Given the description of an element on the screen output the (x, y) to click on. 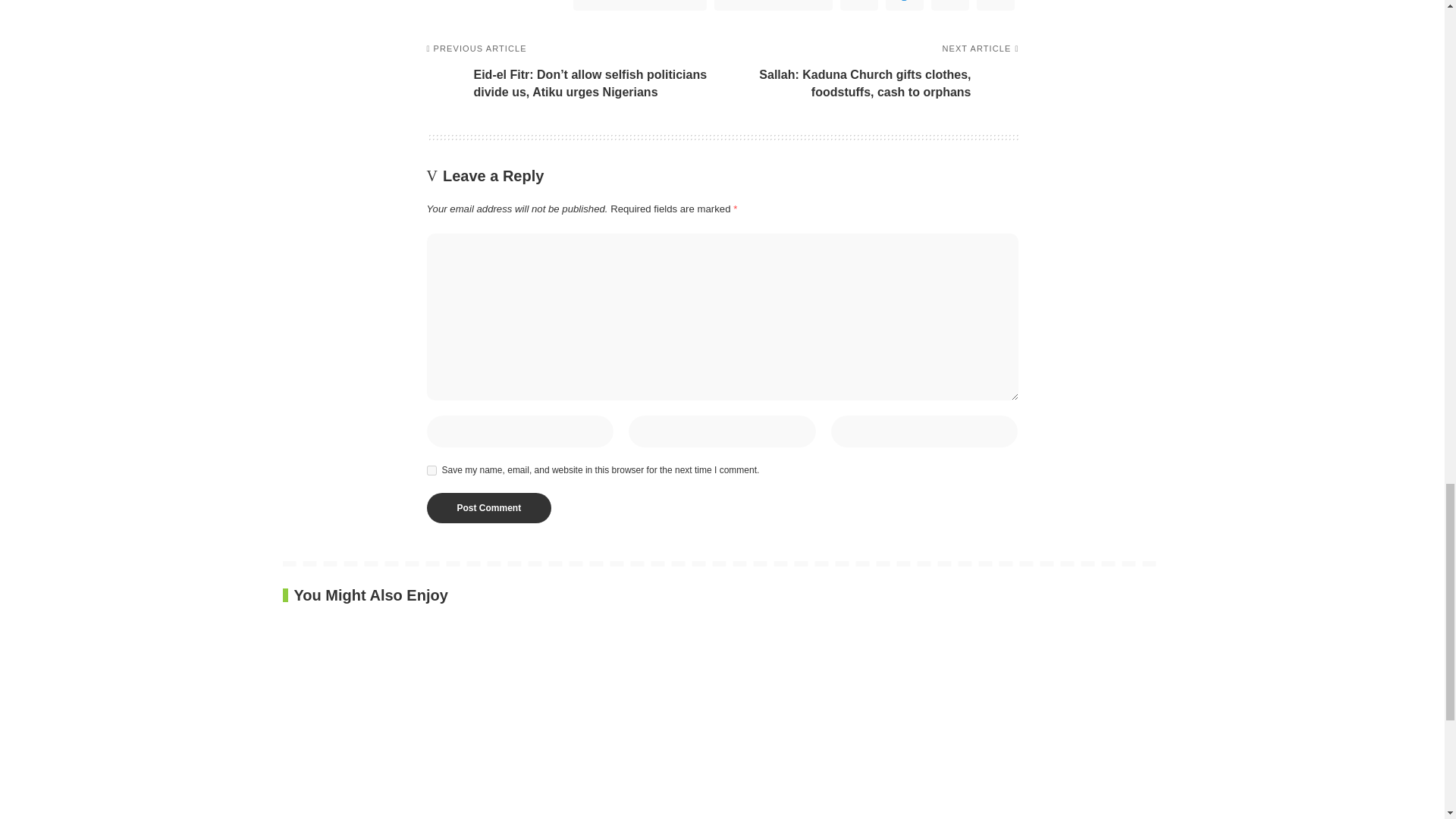
Post Comment (488, 508)
yes (430, 470)
Share on Facebook (639, 5)
Twitter (773, 5)
Facebook (639, 5)
Share on Twitter (773, 5)
WhatsApp (858, 5)
Post Comment (488, 508)
